Given the description of an element on the screen output the (x, y) to click on. 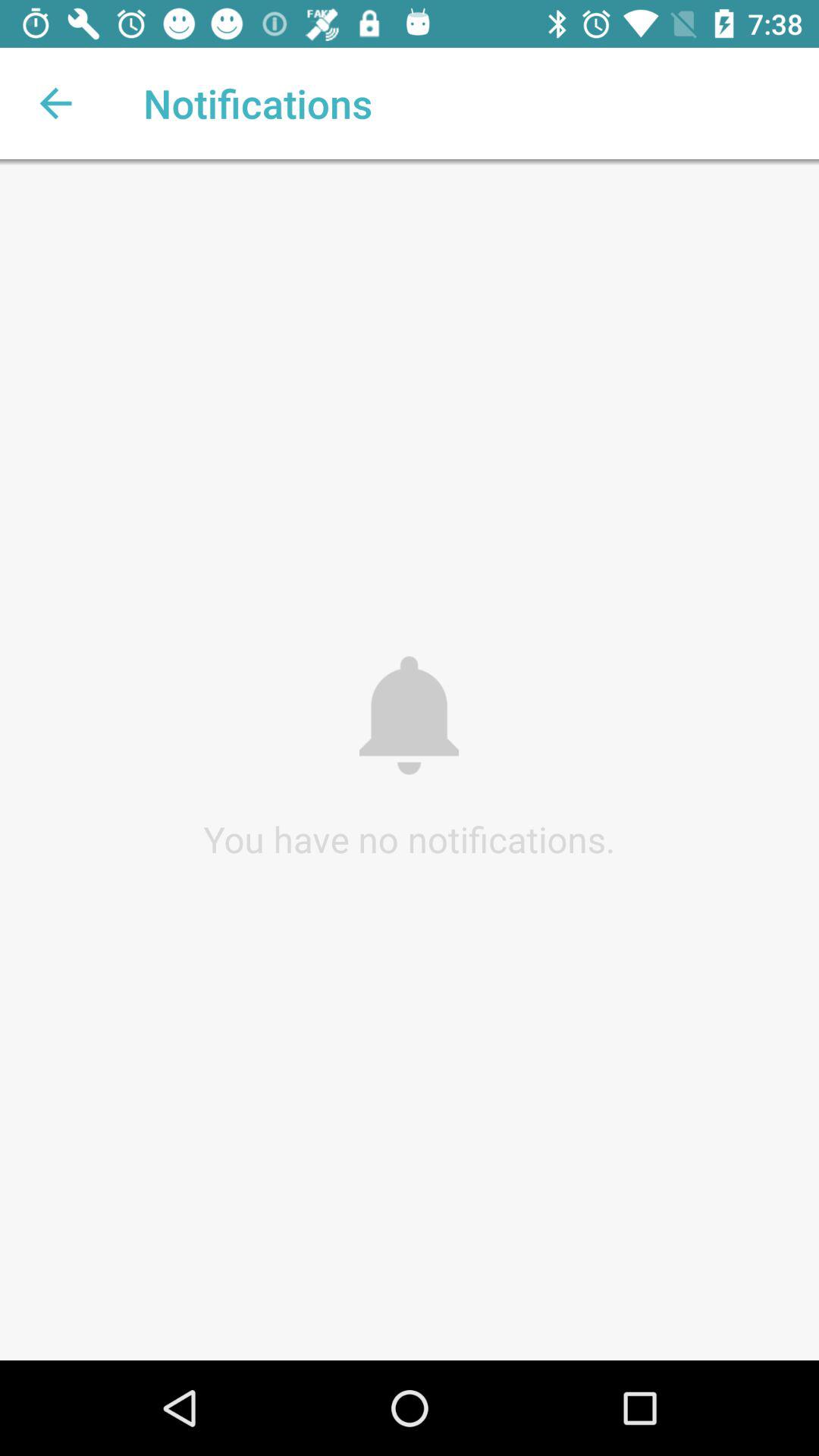
press the item to the left of notifications icon (55, 103)
